Given the description of an element on the screen output the (x, y) to click on. 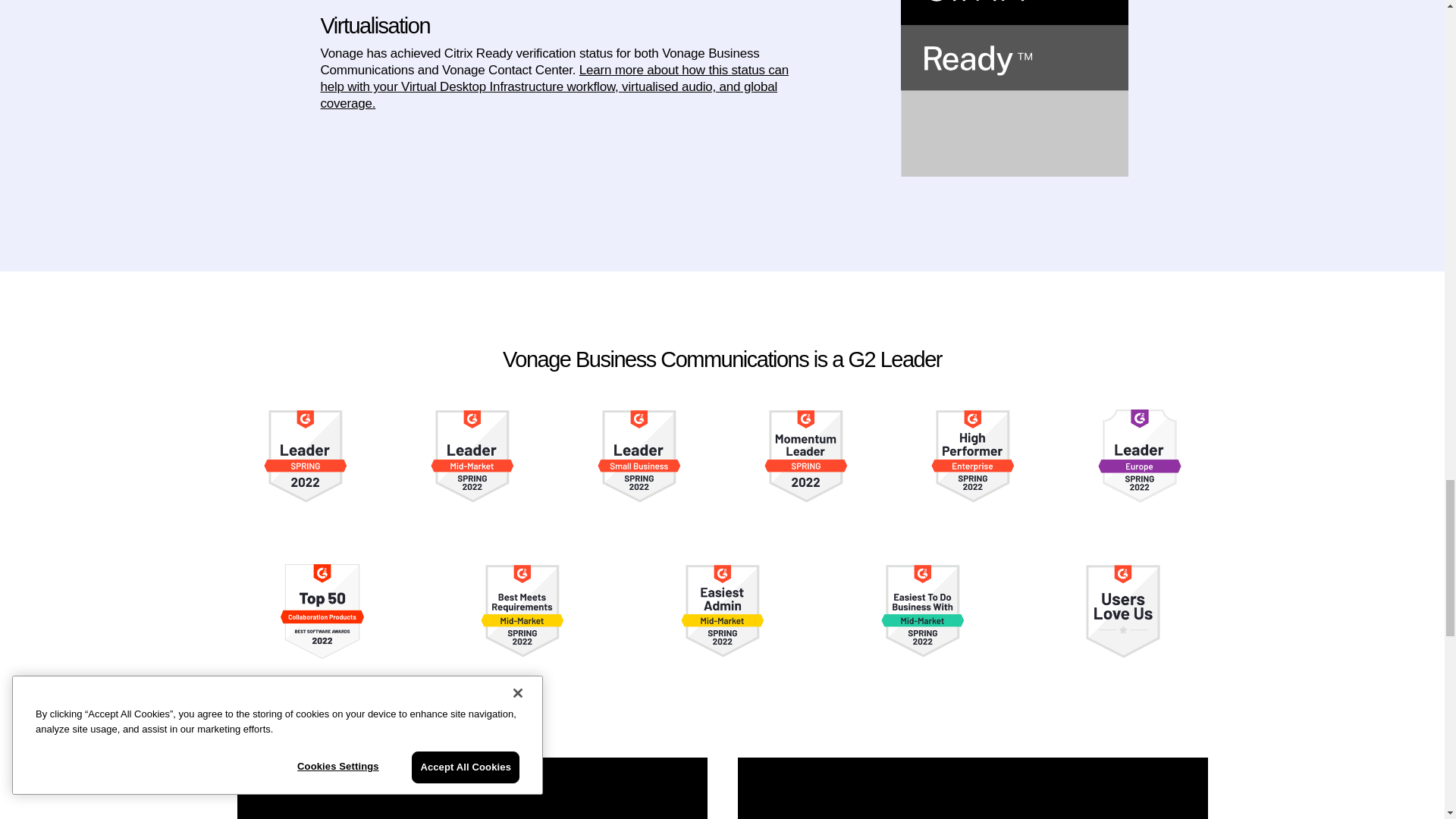
G2 Leader Europe (1138, 455)
Read Vonage is Ctirix Ready article (554, 86)
Citrix Ready logo (1014, 88)
